Given the description of an element on the screen output the (x, y) to click on. 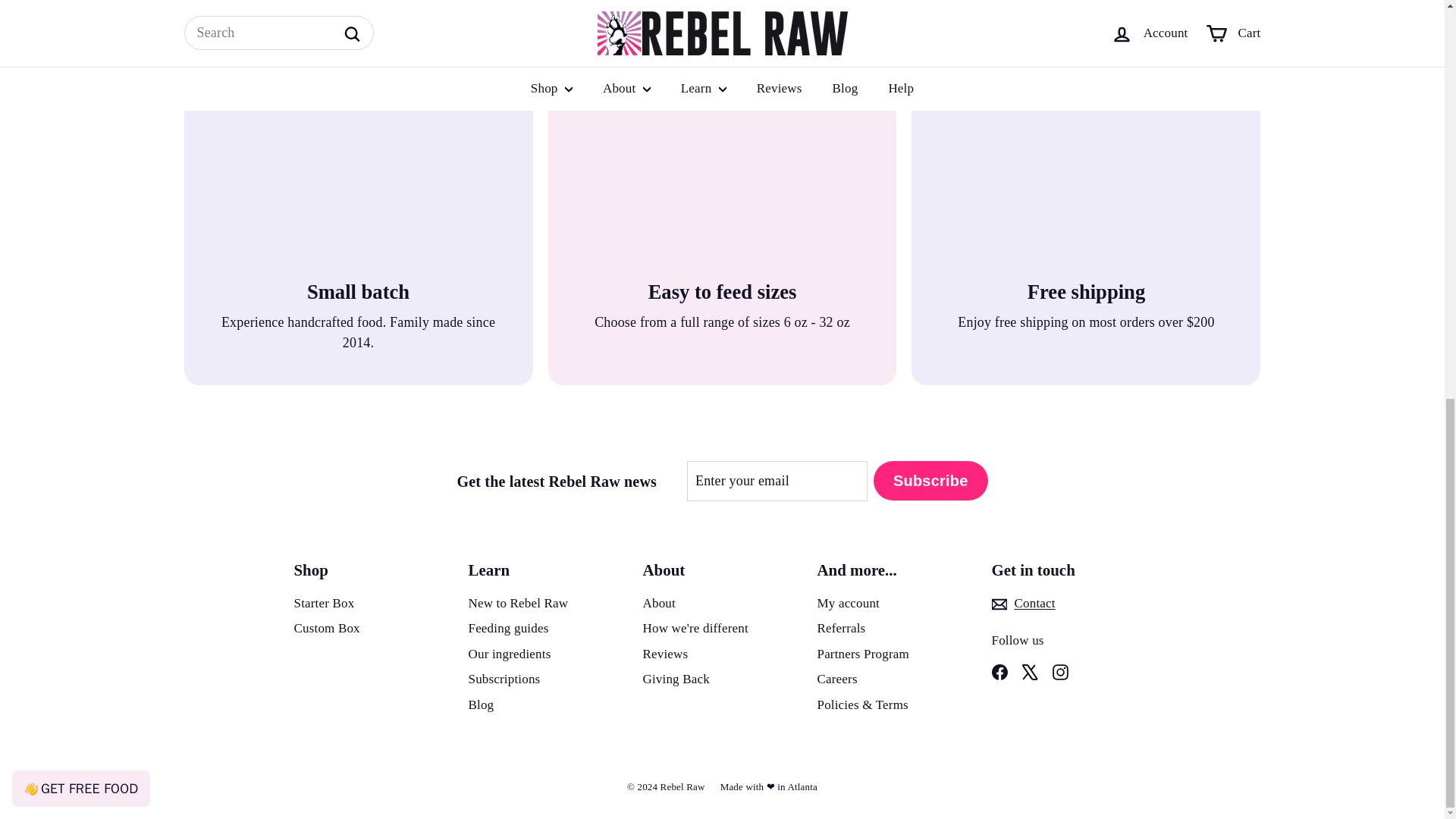
instagram (1060, 672)
